Given the description of an element on the screen output the (x, y) to click on. 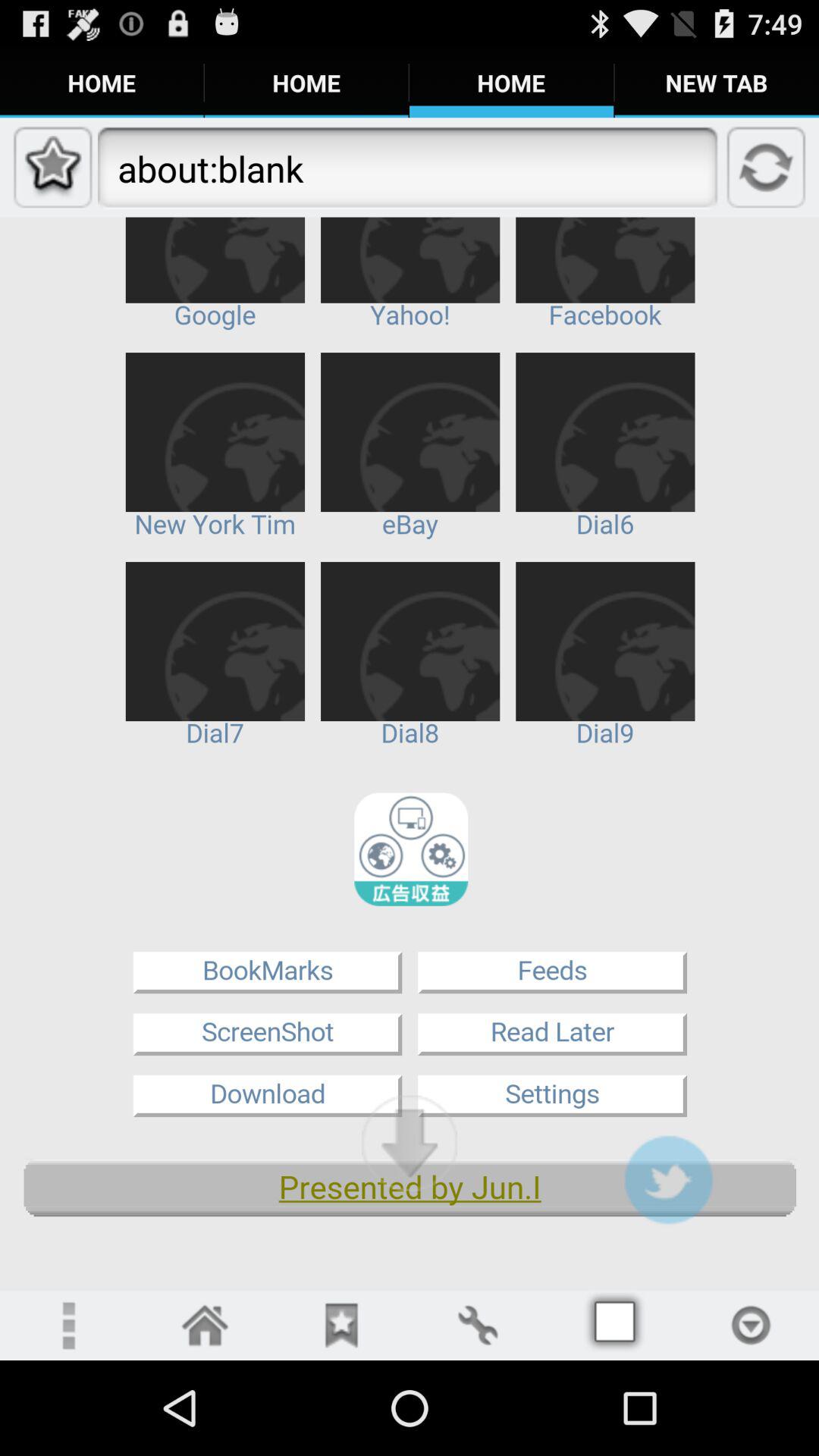
home button (204, 1325)
